Given the description of an element on the screen output the (x, y) to click on. 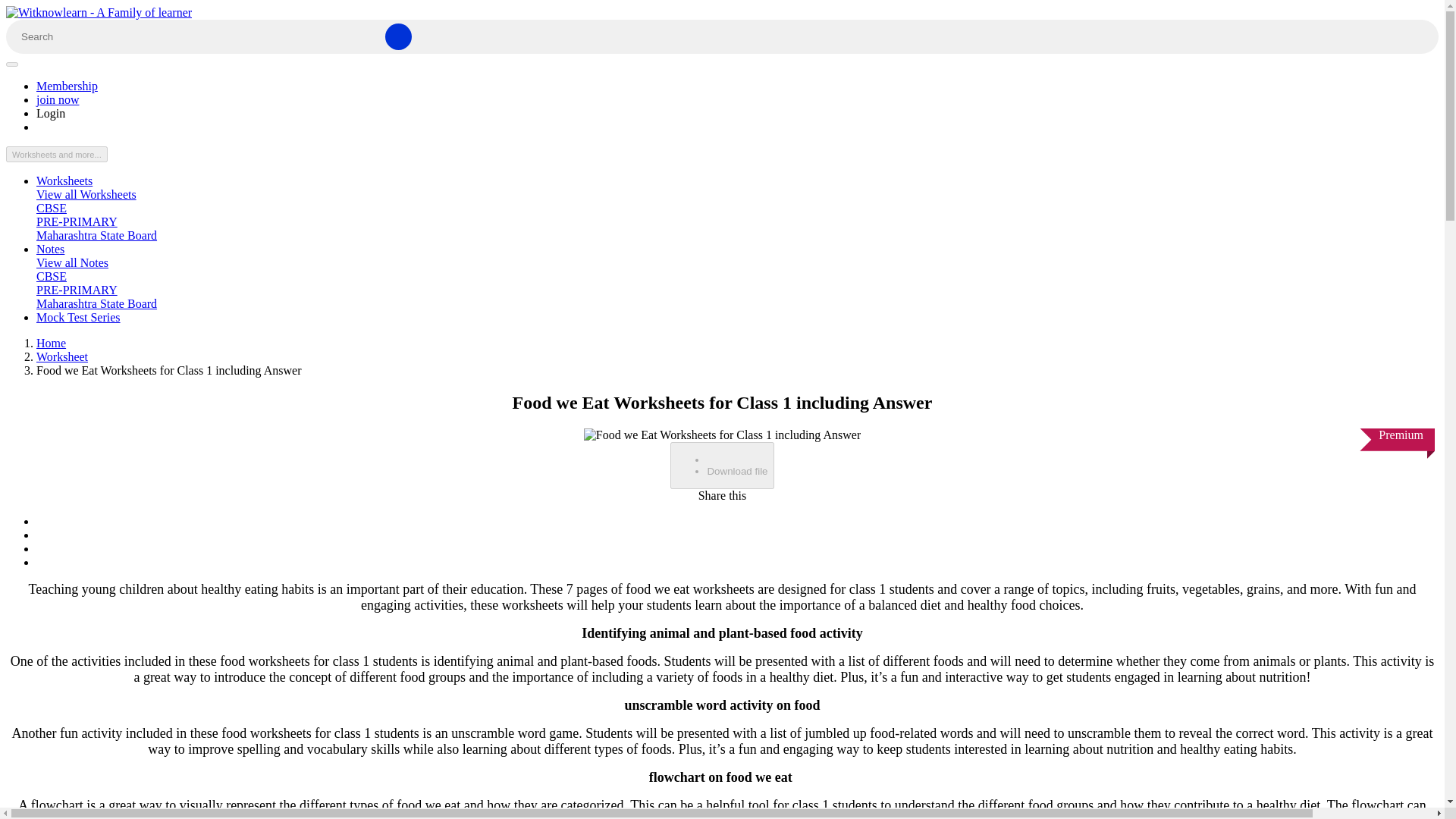
Membership (66, 85)
Worksheets (64, 180)
Food we Eat Worksheets for Class 1 including Answer (721, 435)
Worksheets and more... (56, 154)
CBSE (51, 207)
Login (50, 113)
View all Worksheets (86, 194)
join now (57, 99)
Witknowlearn - A Family of learner (98, 12)
